Given the description of an element on the screen output the (x, y) to click on. 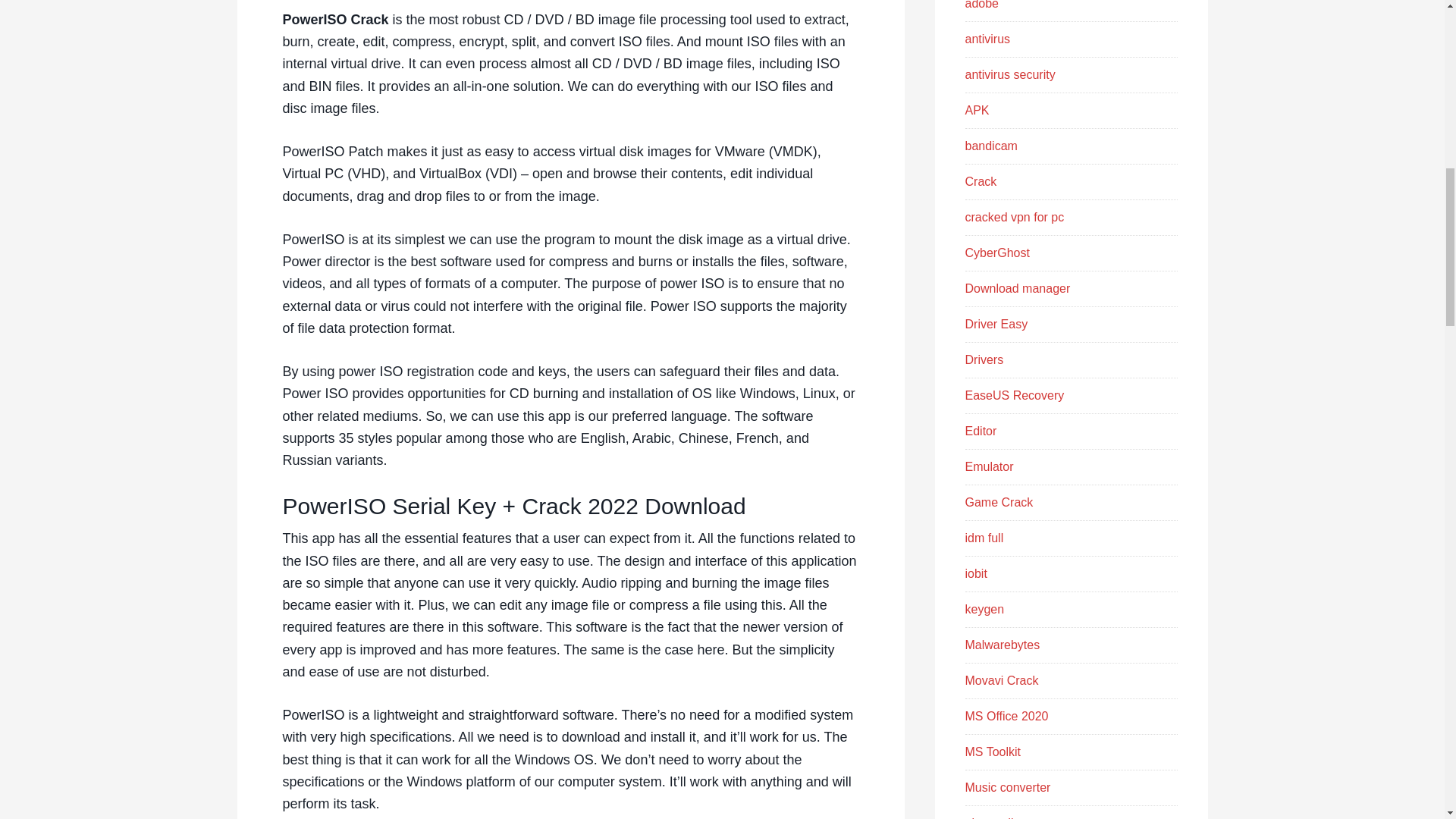
Crack (979, 181)
APK (975, 110)
antivirus security (1008, 74)
adobe (980, 4)
cracked vpn for pc (1013, 216)
bandicam (989, 145)
antivirus (986, 38)
